Given the description of an element on the screen output the (x, y) to click on. 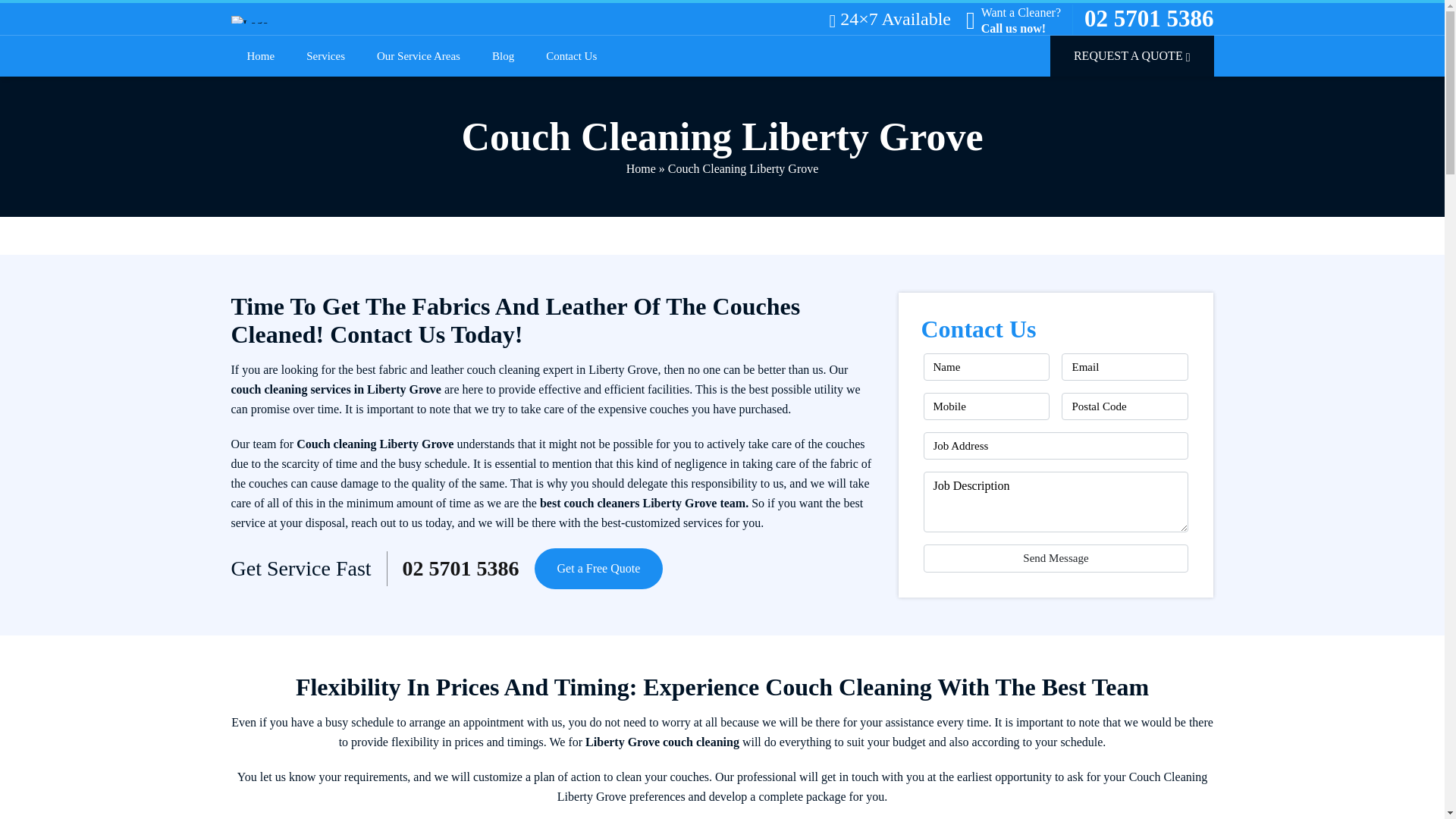
02 5701 5386 (461, 568)
Services (325, 55)
Home (260, 55)
Our Service Areas (418, 55)
Home (641, 168)
02 5701 5386 (1149, 18)
Contact Us (571, 55)
REQUEST A QUOTE (1131, 56)
Send Message (1056, 558)
Send Message (1056, 558)
Get a Free Quote (598, 567)
Blog (503, 55)
